Given the description of an element on the screen output the (x, y) to click on. 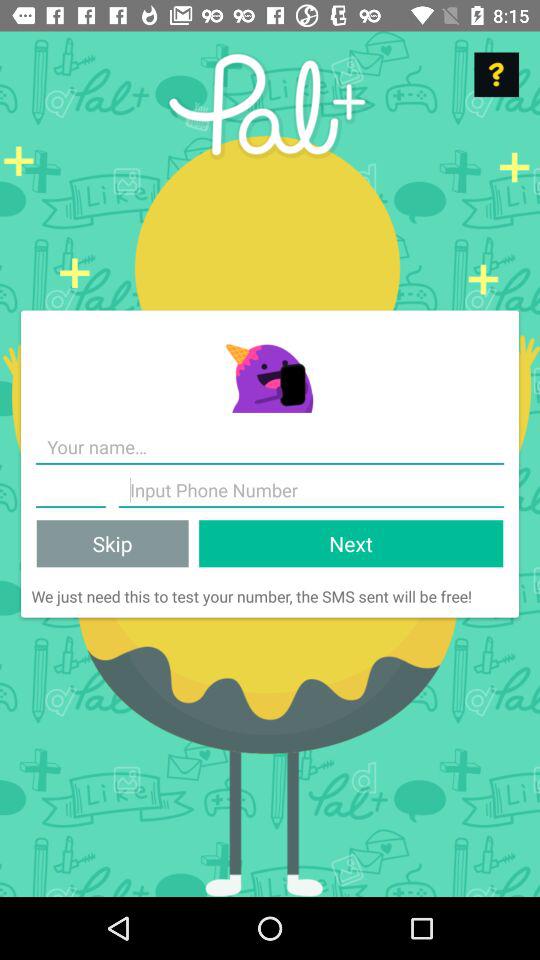
turn on the icon above we just need item (351, 543)
